Given the description of an element on the screen output the (x, y) to click on. 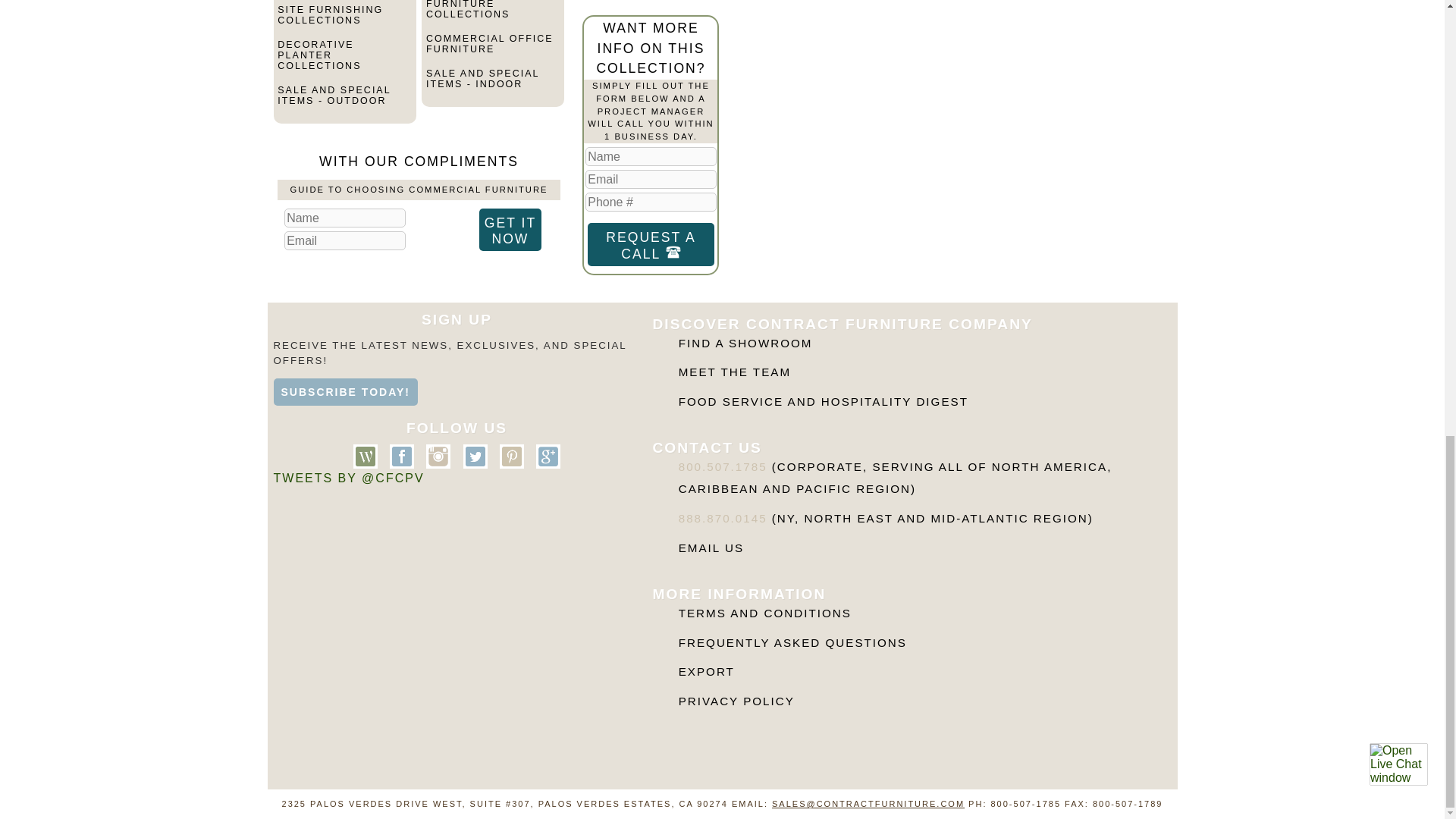
SALE AND SPECIAL ITEMS - OUTDOOR (345, 101)
SITE FURNISHING COLLECTIONS (345, 21)
CABANA - PAVILION - BUNGALOW COLLECTION (345, 2)
DECORATIVE PLANTER COLLECTIONS (345, 61)
